Given the description of an element on the screen output the (x, y) to click on. 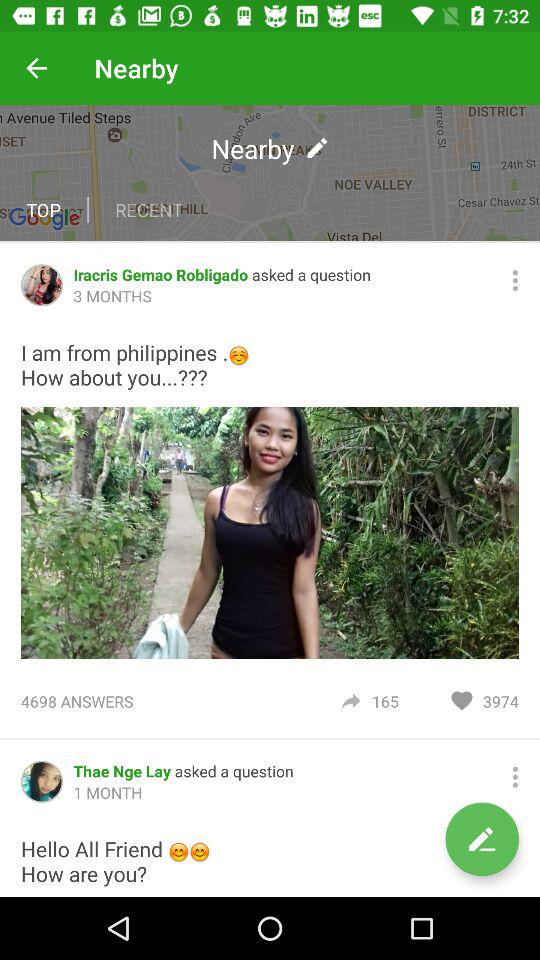
more information (515, 776)
